Given the description of an element on the screen output the (x, y) to click on. 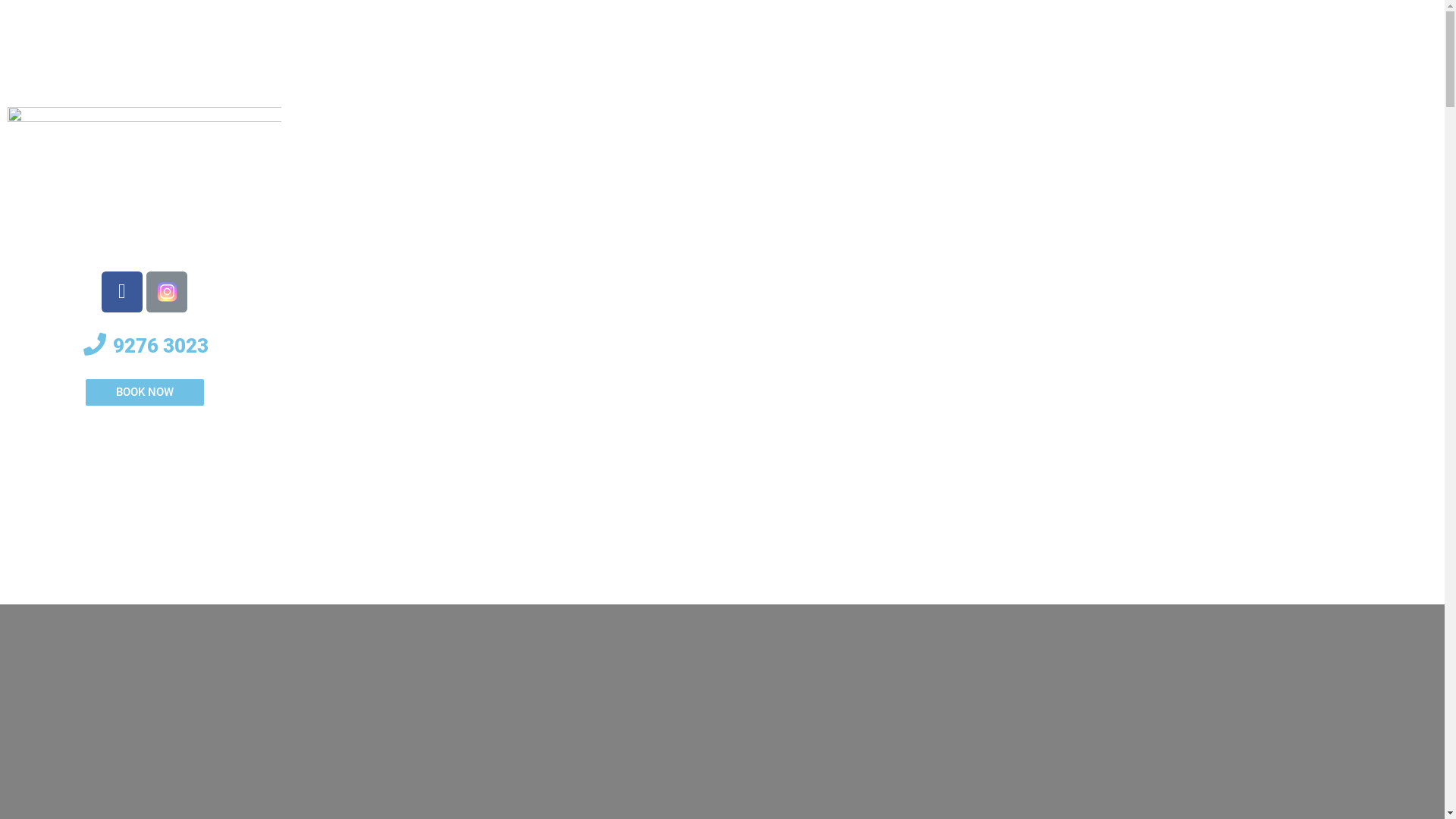
9276 3023 Element type: text (144, 345)
BOOK NOW Element type: text (143, 392)
